Given the description of an element on the screen output the (x, y) to click on. 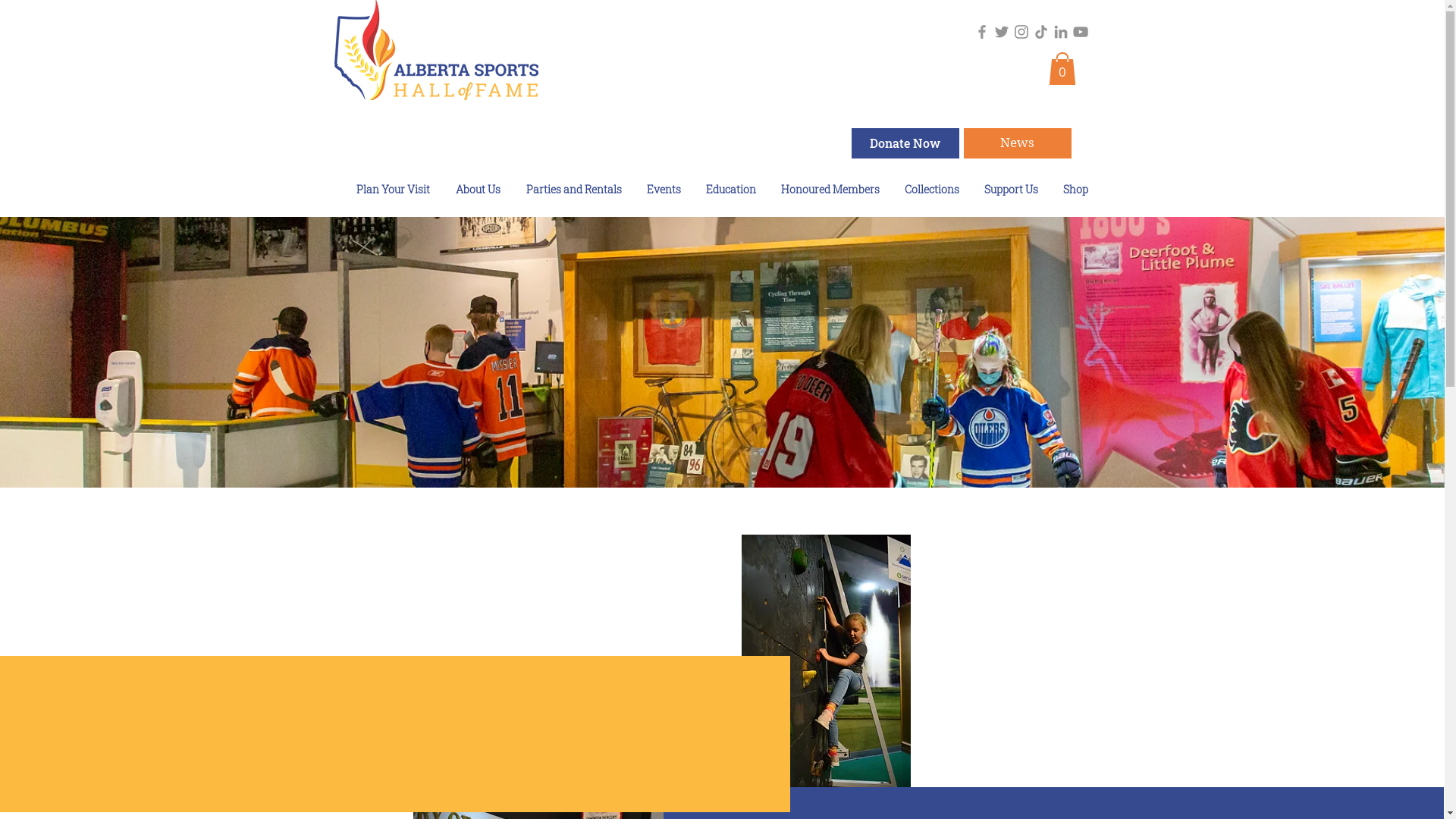
Shop Element type: text (1074, 189)
Donate Now Element type: text (904, 143)
0 Element type: text (1061, 68)
Education Element type: text (728, 189)
Events Element type: text (661, 189)
News Element type: text (1016, 143)
